Given the description of an element on the screen output the (x, y) to click on. 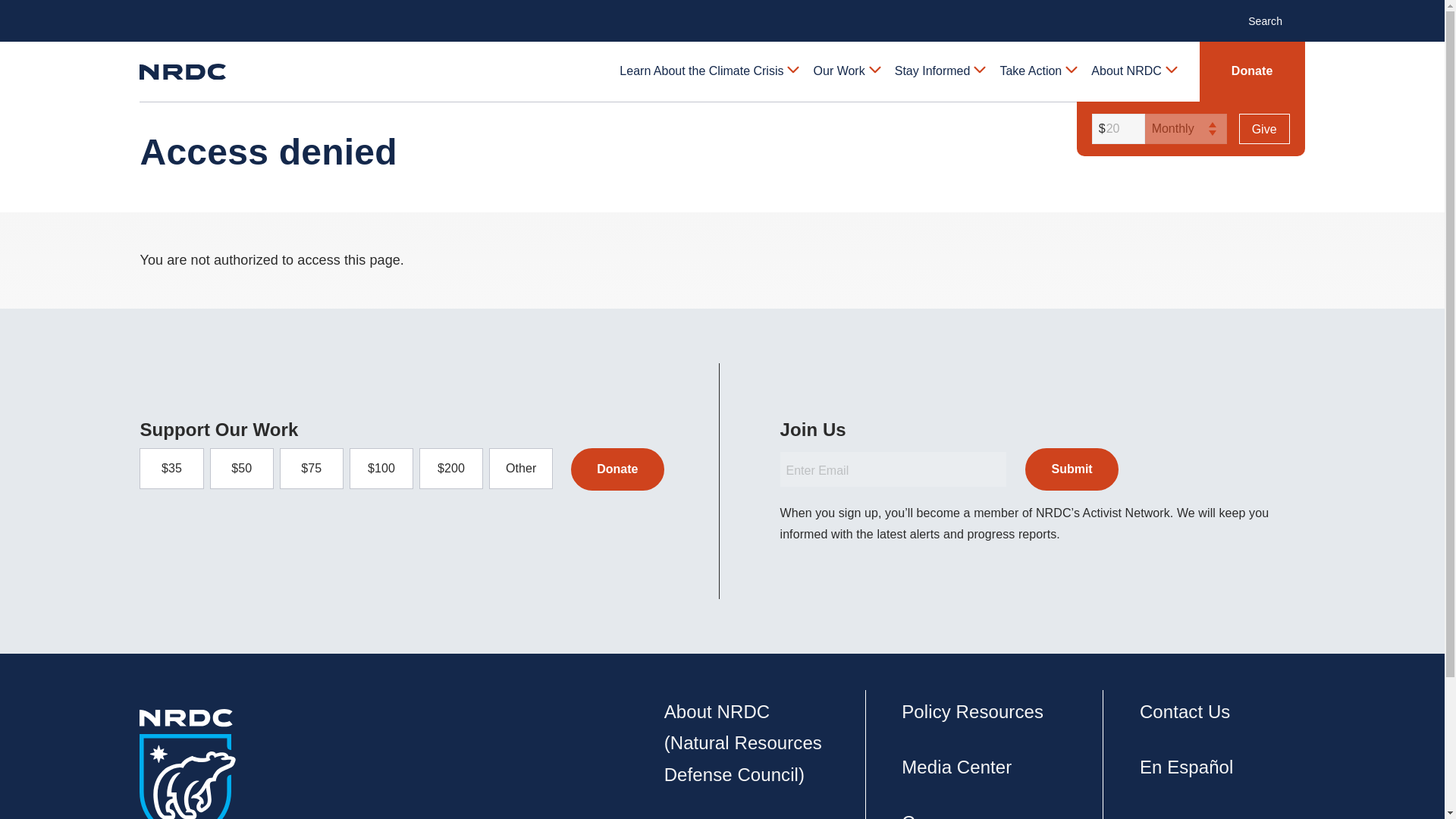
Stay Informed (939, 71)
Skip to main content (721, 12)
Learn About the Climate Crisis (707, 71)
Search (1272, 19)
Our Work (846, 71)
